Given the description of an element on the screen output the (x, y) to click on. 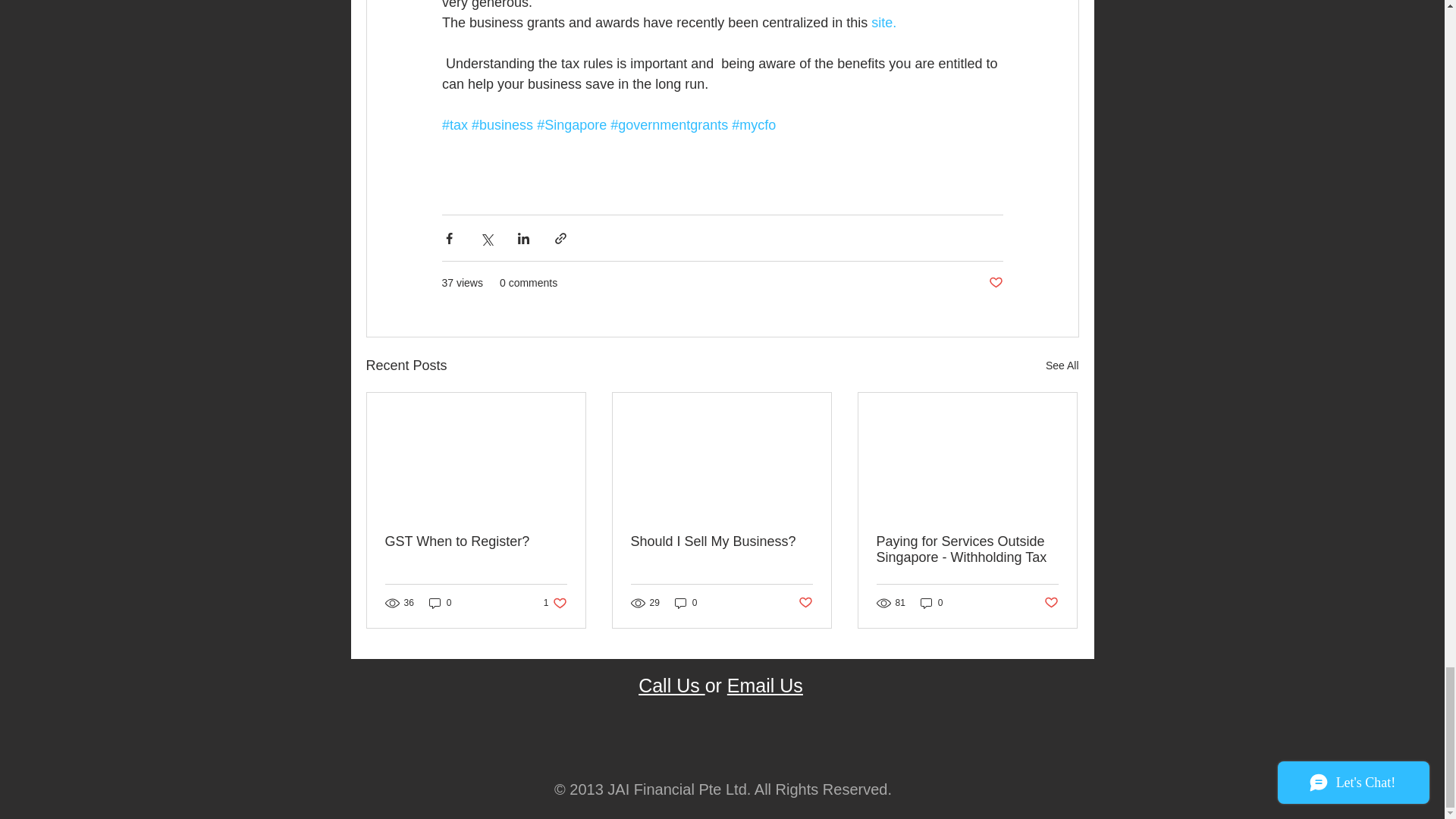
GST When to Register? (476, 541)
Post not marked as liked (995, 283)
Paying for Services Outside Singapore - Withholding Tax (967, 549)
0 (931, 603)
Email Us (764, 685)
Call Us (671, 685)
Post not marked as liked (1050, 602)
Should I Sell My Business? (721, 541)
See All (1061, 365)
0 (685, 603)
Post not marked as liked (555, 603)
site. (804, 602)
0 (883, 22)
